Given the description of an element on the screen output the (x, y) to click on. 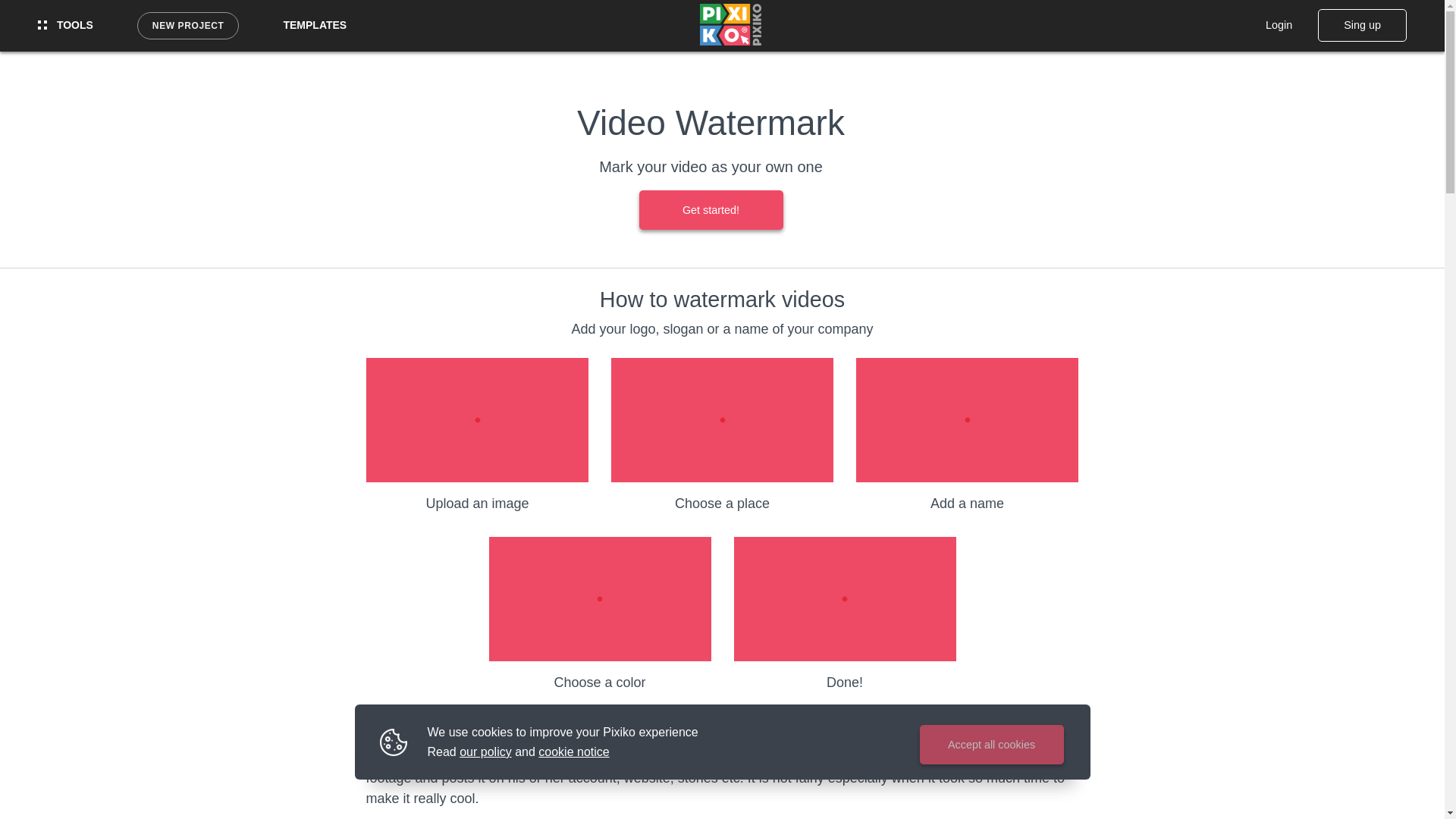
Login (1278, 24)
Done! (844, 614)
TOOLS (65, 25)
Login (1278, 24)
TEMPLATES (314, 25)
Add a name (967, 435)
Done! (844, 614)
Add a name (967, 435)
Choose a place (721, 435)
Sing up (1361, 24)
